Given the description of an element on the screen output the (x, y) to click on. 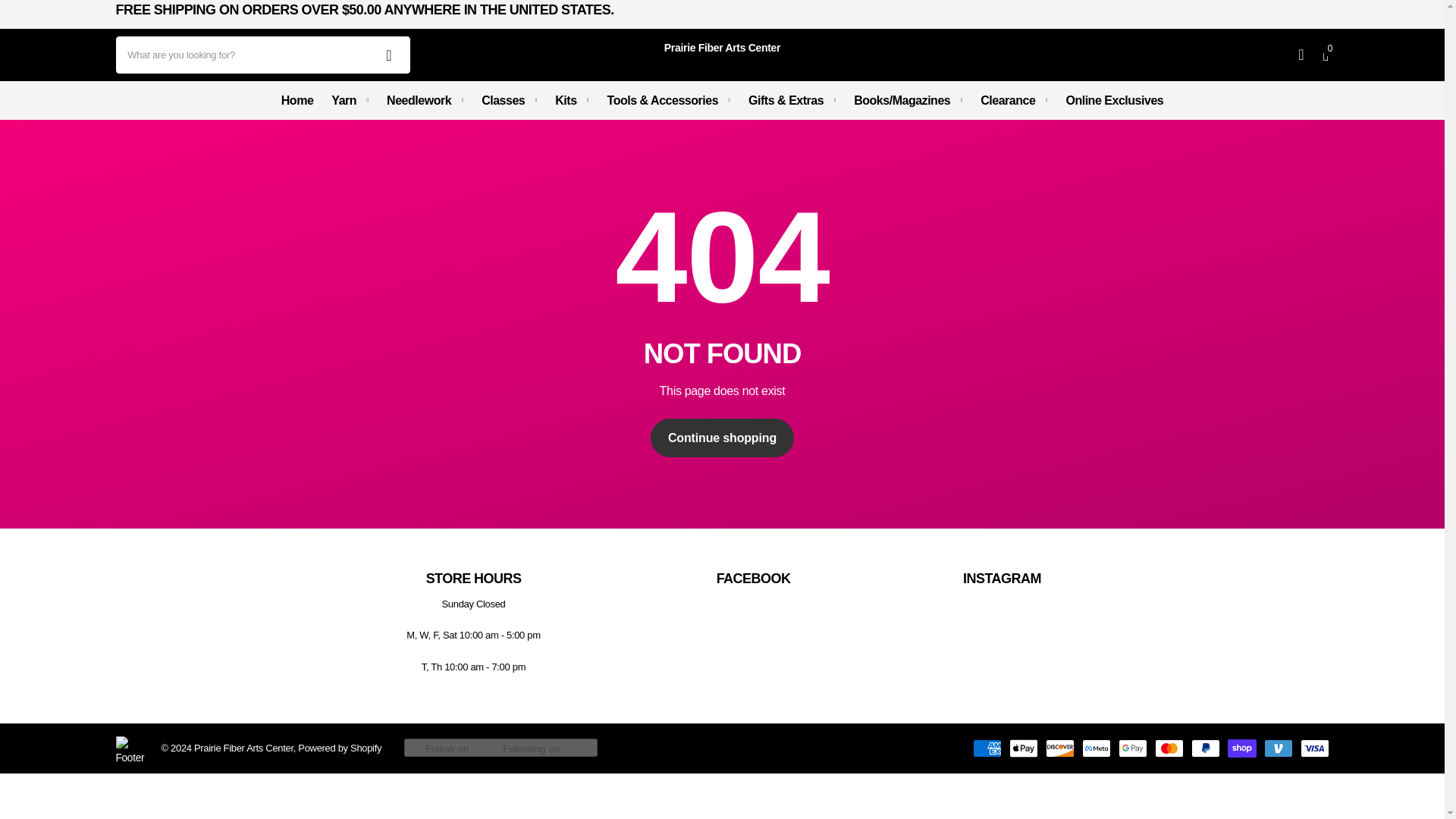
Visa (1313, 748)
Google Pay (1132, 748)
Mastercard (1168, 748)
American Express (986, 748)
Yarn (349, 99)
PayPal (1205, 748)
Meta Pay (1095, 748)
Apple Pay (1022, 748)
Venmo (1277, 748)
Discover (1059, 748)
